Given the description of an element on the screen output the (x, y) to click on. 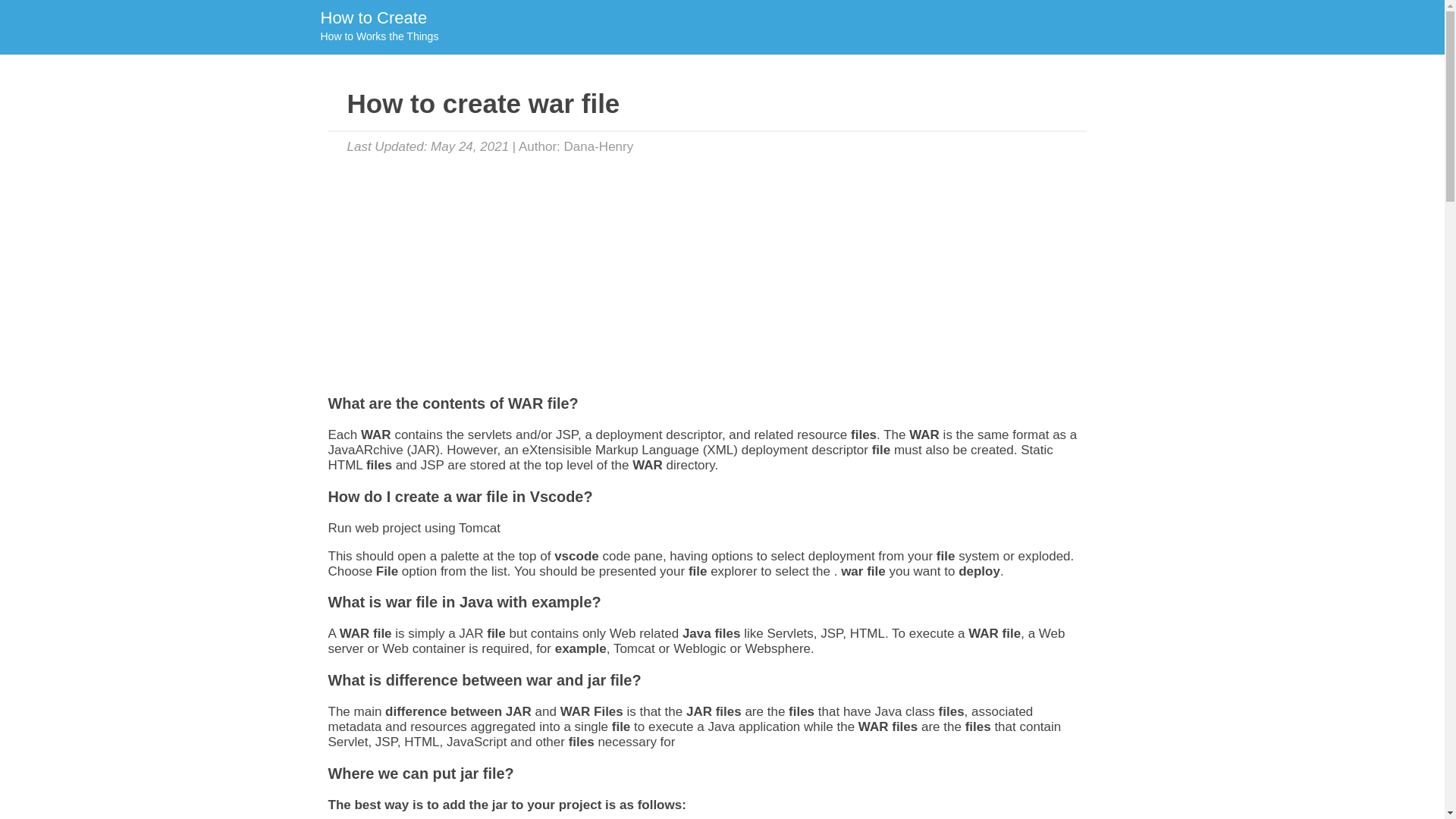
Dana-Henry (378, 27)
